Given the description of an element on the screen output the (x, y) to click on. 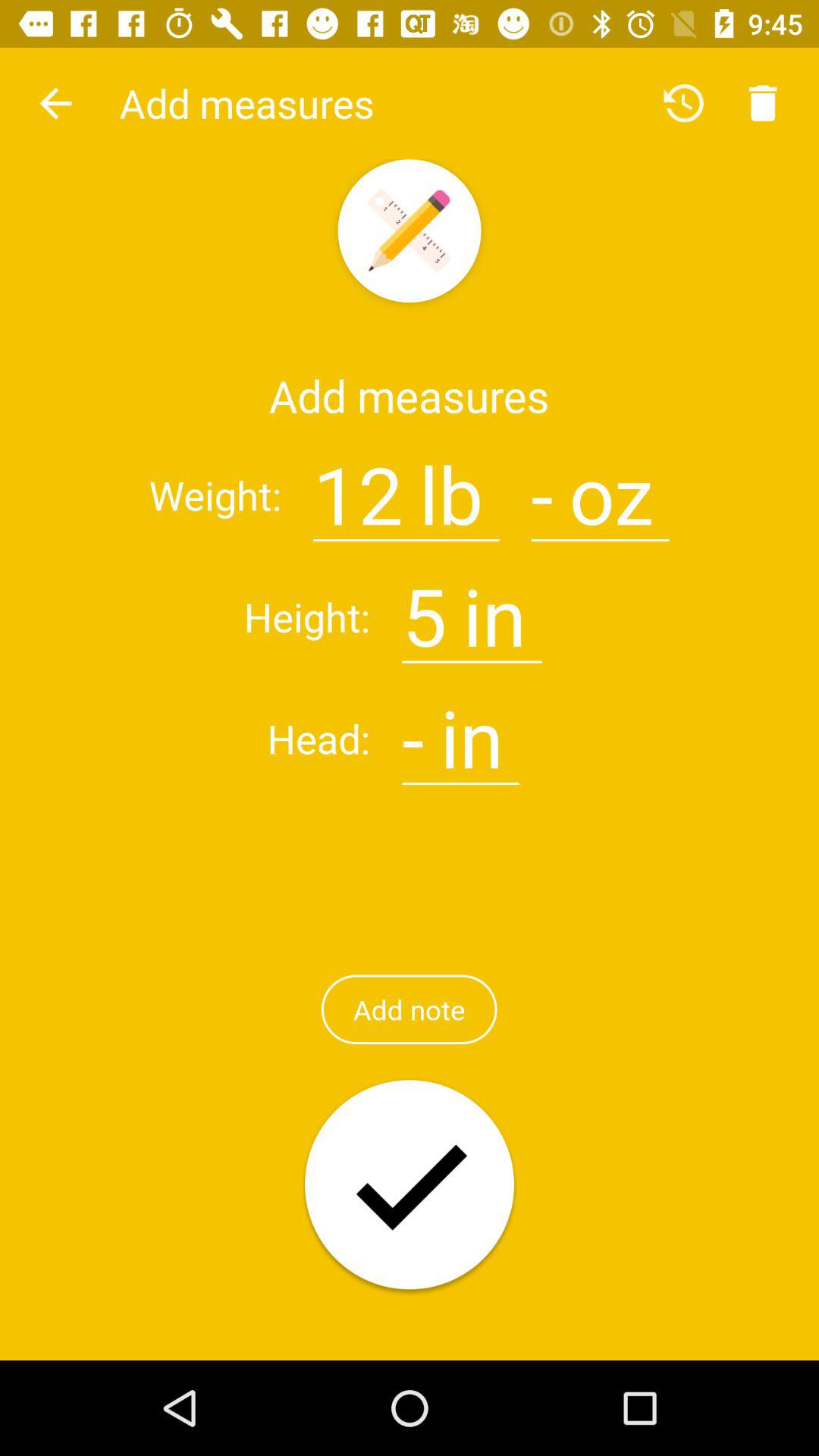
enter weight (542, 485)
